Given the description of an element on the screen output the (x, y) to click on. 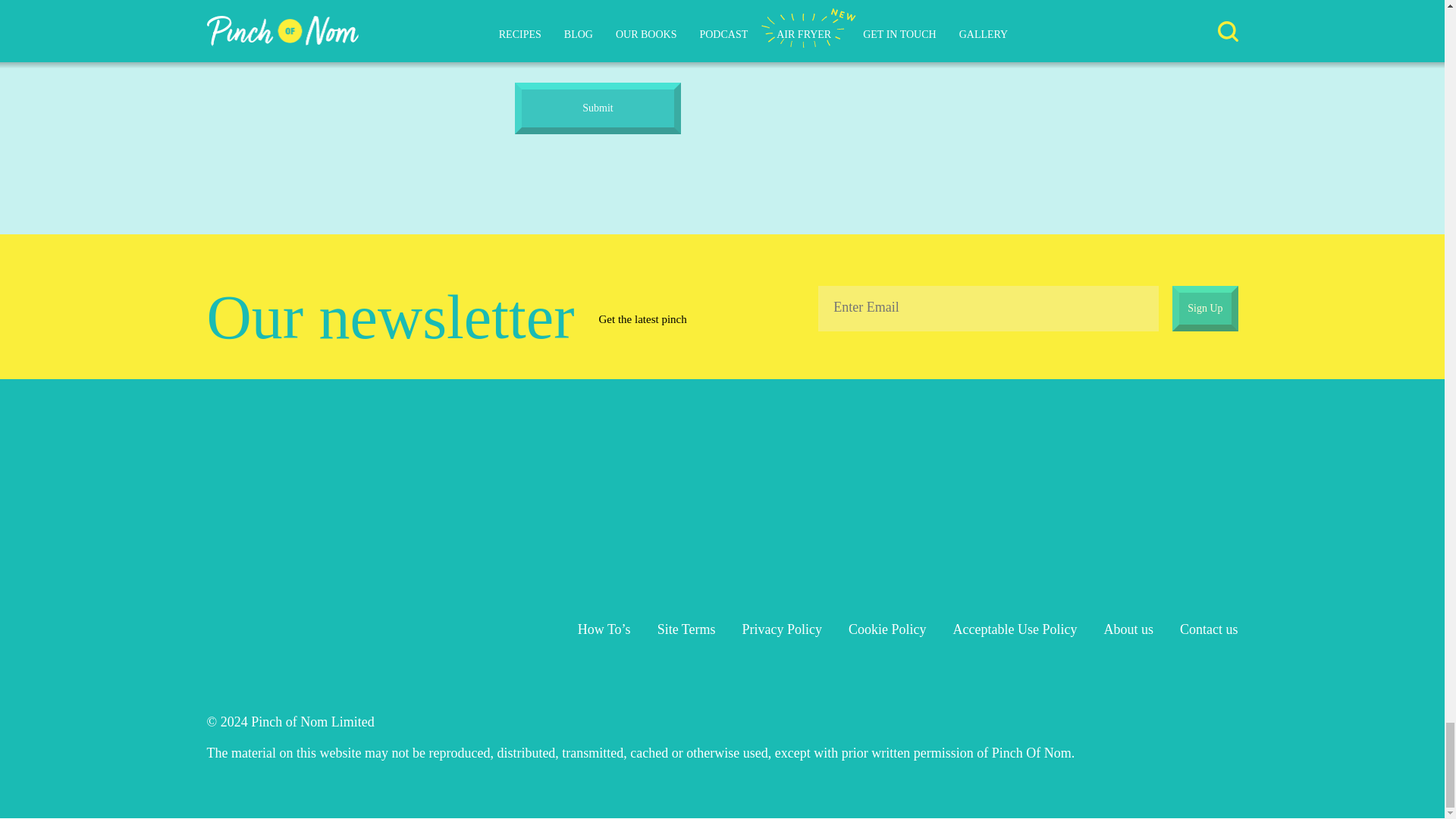
Submit (597, 108)
Sign Up (1204, 308)
